Given the description of an element on the screen output the (x, y) to click on. 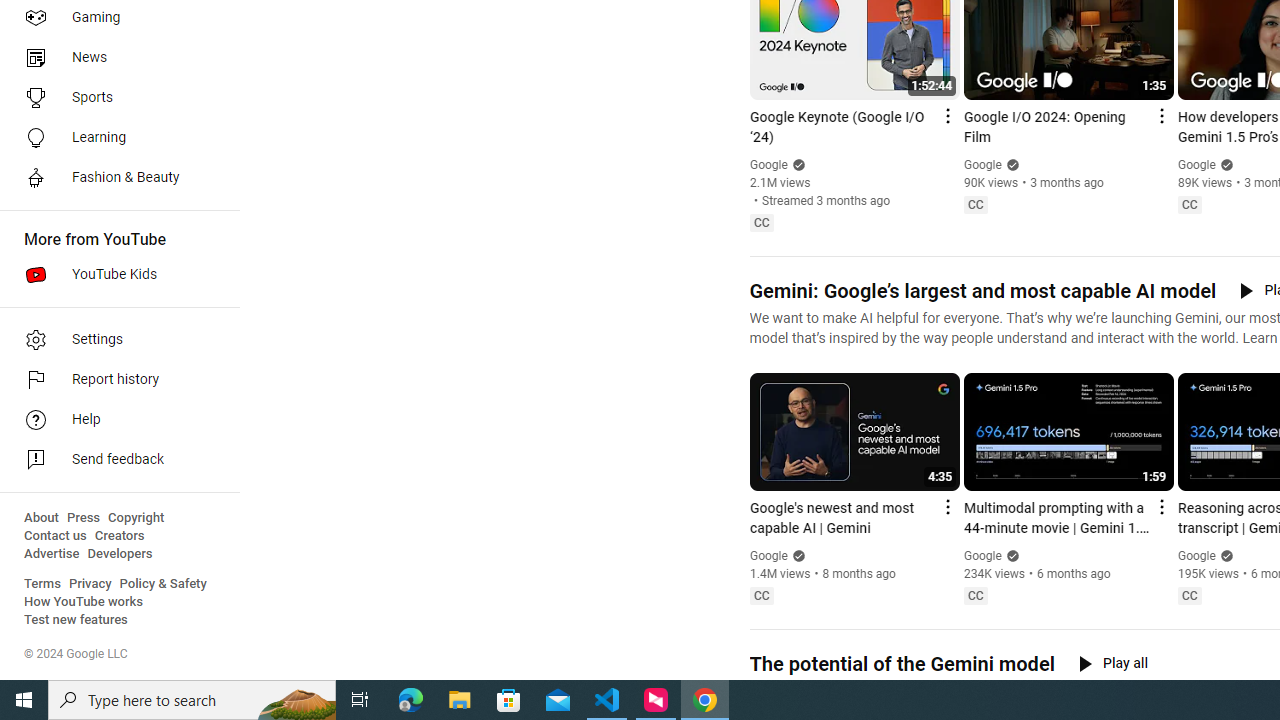
Advertise (51, 554)
Press (83, 518)
